Given the description of an element on the screen output the (x, y) to click on. 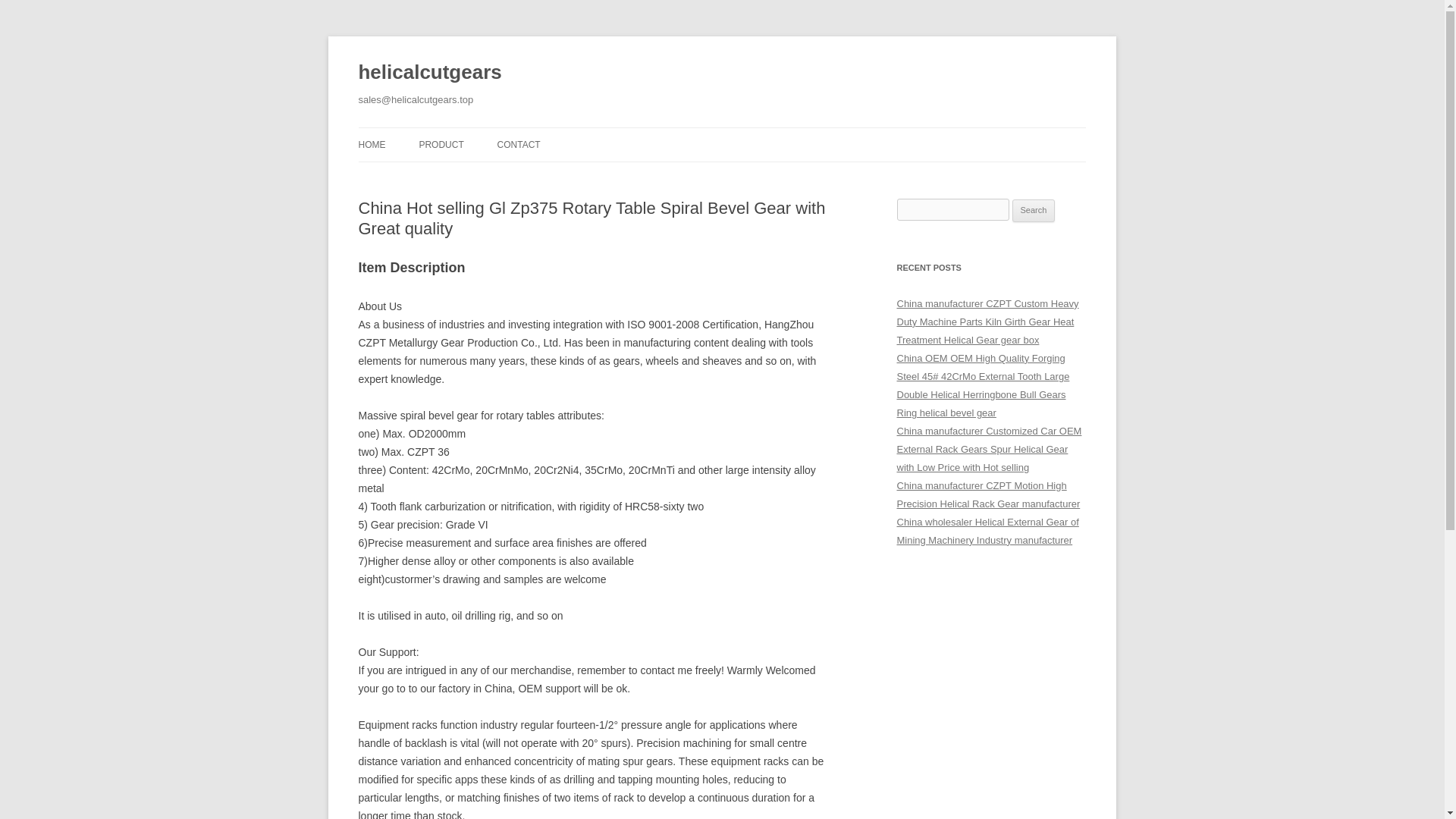
Search (1033, 210)
CONTACT (518, 144)
helicalcutgears (429, 72)
PRODUCT (441, 144)
helicalcutgears (429, 72)
Search (1033, 210)
